Given the description of an element on the screen output the (x, y) to click on. 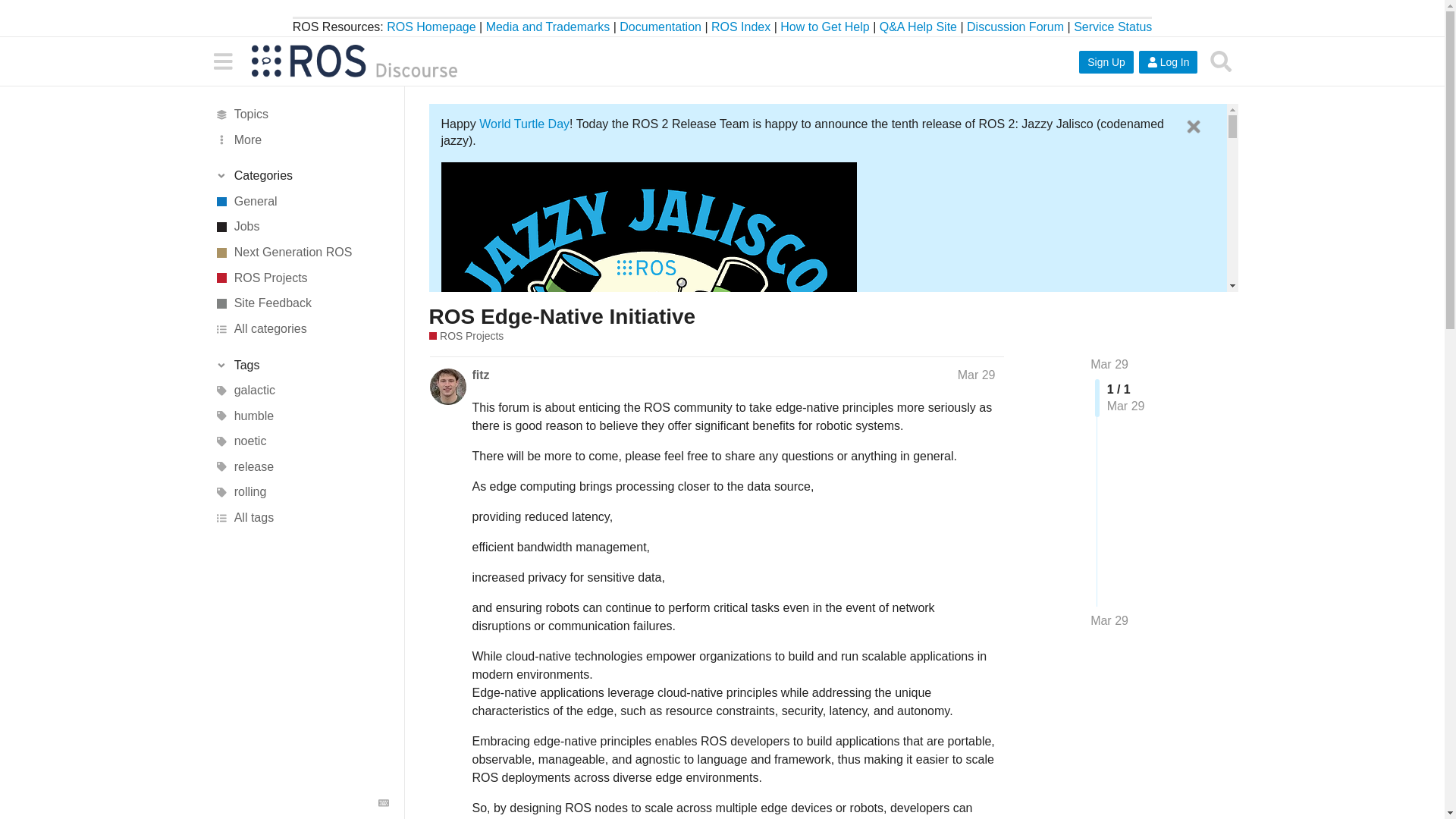
ROS Projects (301, 278)
All topics (301, 114)
Search (1220, 60)
All categories (301, 329)
Media and Trademarks (548, 26)
rolling (301, 492)
This is a forum to talk about the next generation of ROS. (301, 252)
Jazzy Jalisco turtlesim icon (882, 564)
Tags (301, 365)
All tags (301, 517)
Site Feedback (301, 303)
Sidebar (222, 60)
Toggle section (301, 176)
